Given the description of an element on the screen output the (x, y) to click on. 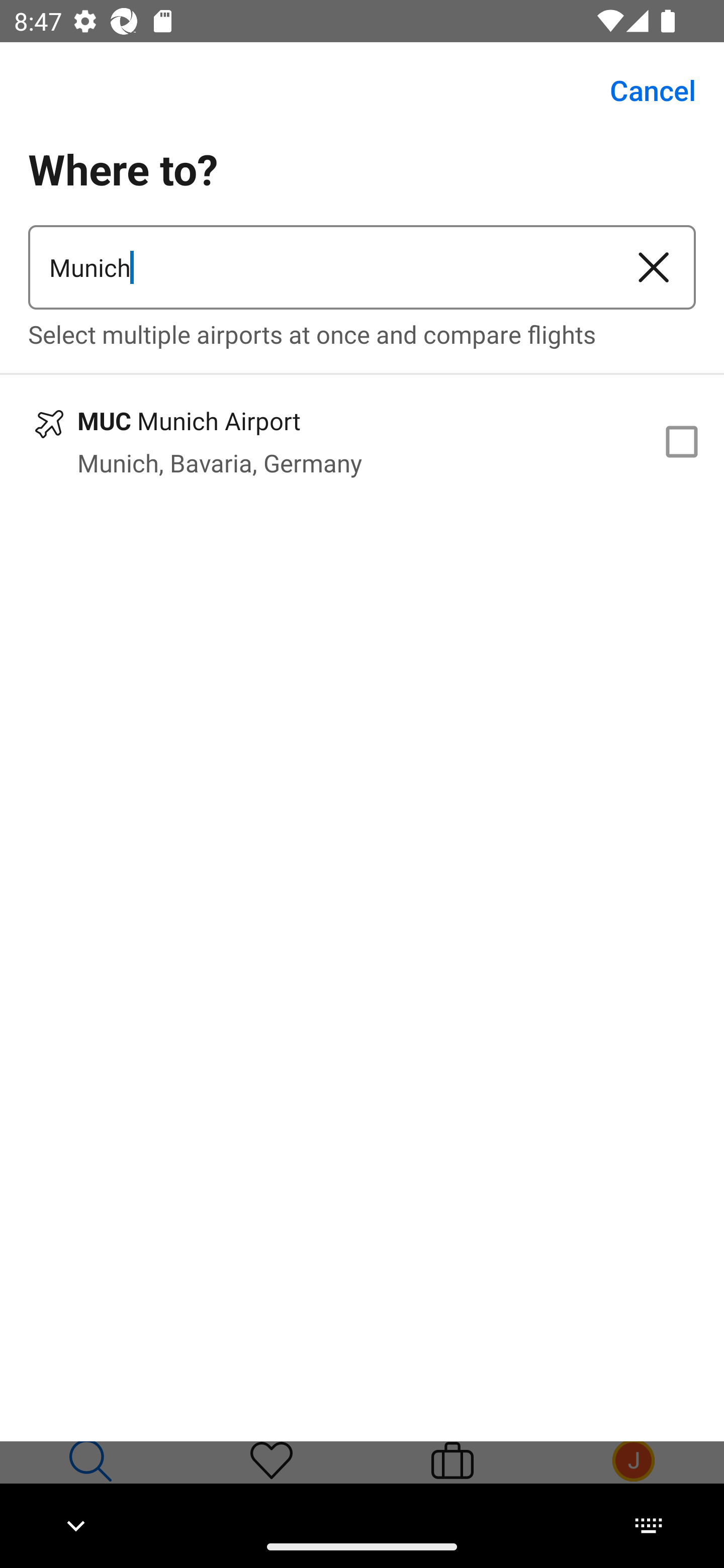
Cancel (641, 90)
Munich (319, 266)
Clear airport or city (653, 266)
MUC Munich Airport Munich, Bavaria, Germany (362, 440)
